Given the description of an element on the screen output the (x, y) to click on. 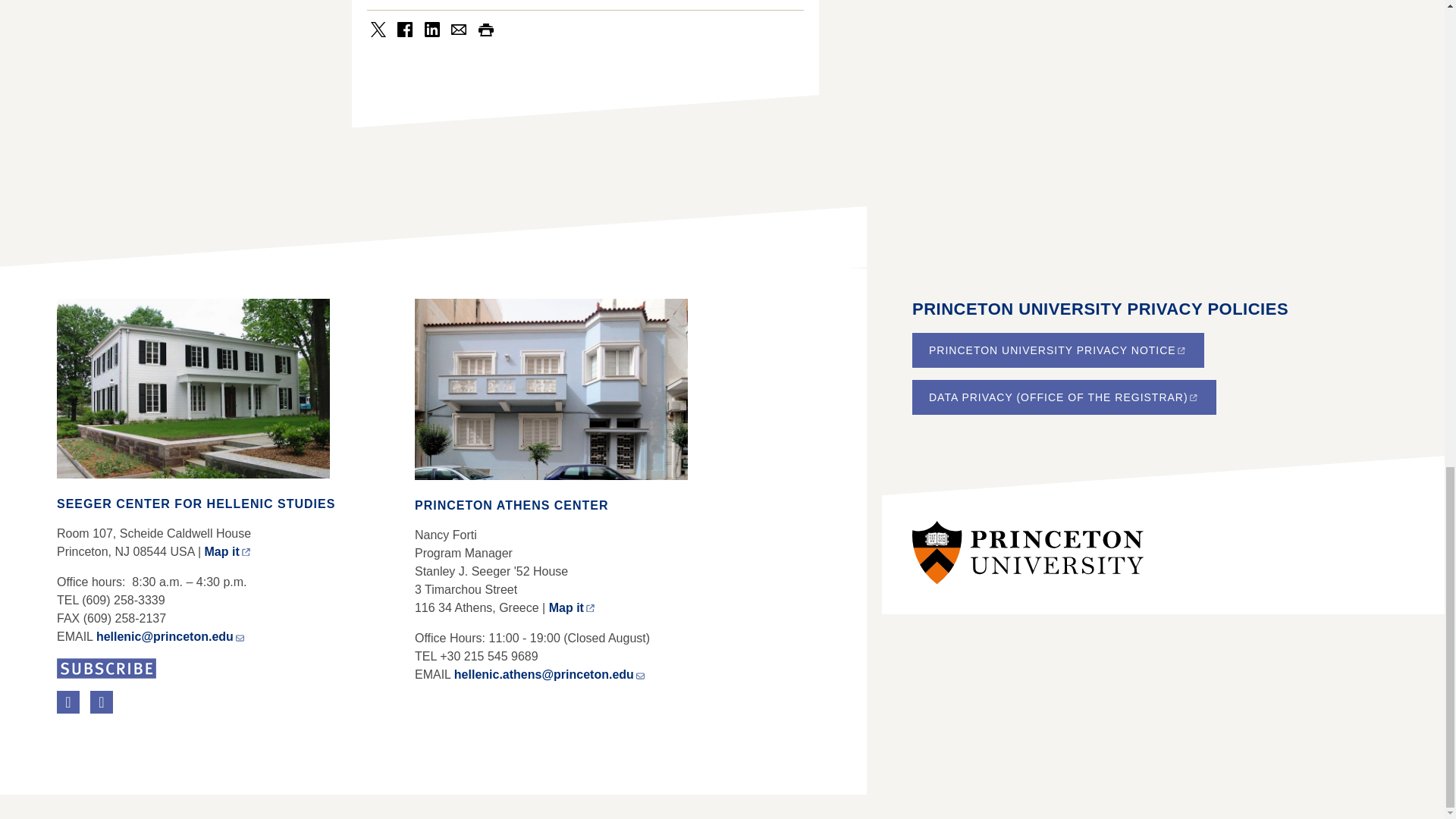
Link is external (590, 608)
Link sends email (239, 636)
Link is external (1181, 350)
Link is external (1192, 397)
Link is external (119, 723)
Link is external (245, 551)
Link is external (146, 723)
Link sends email (640, 674)
